Given the description of an element on the screen output the (x, y) to click on. 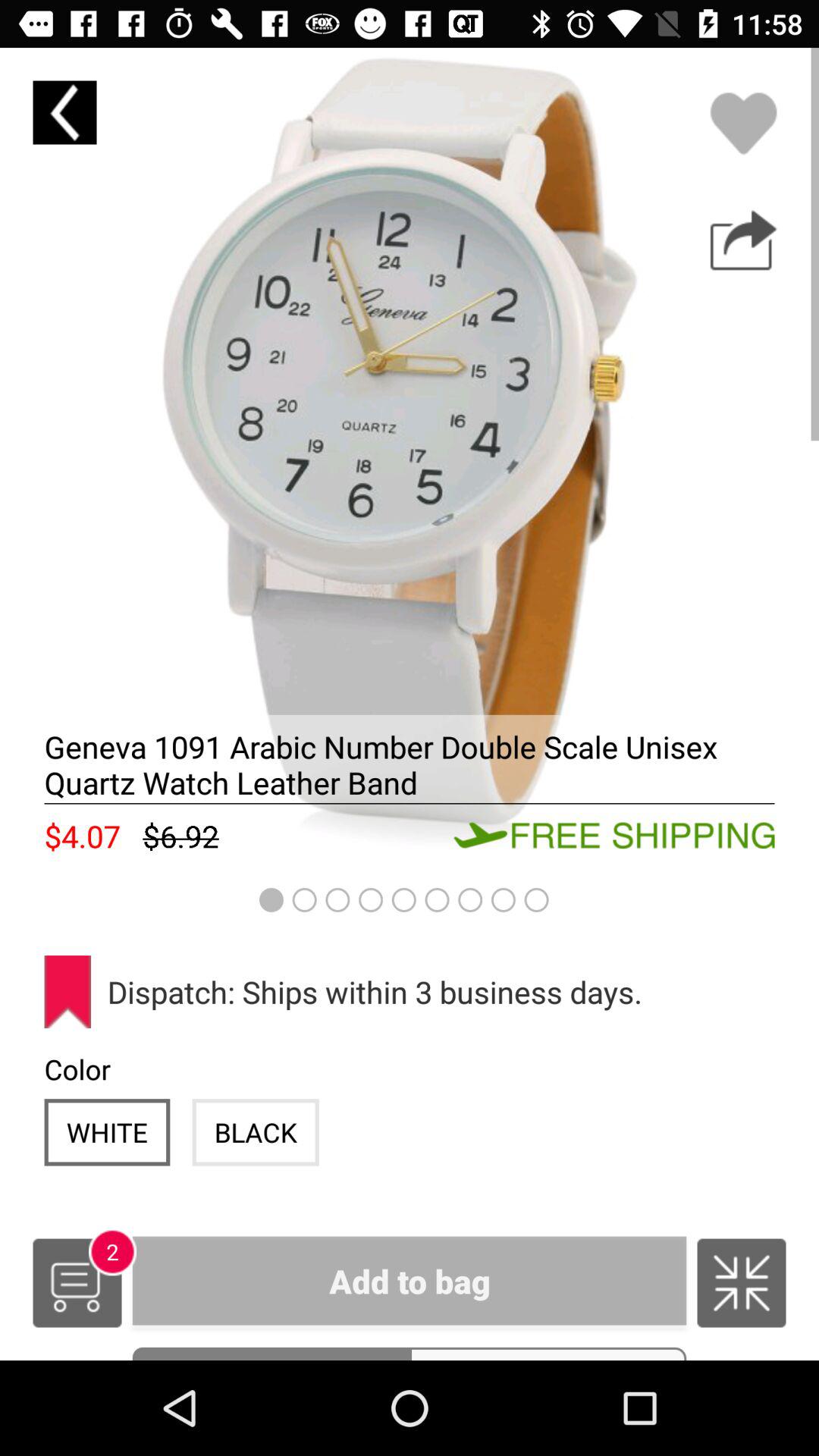
share with other pages button (743, 240)
